Given the description of an element on the screen output the (x, y) to click on. 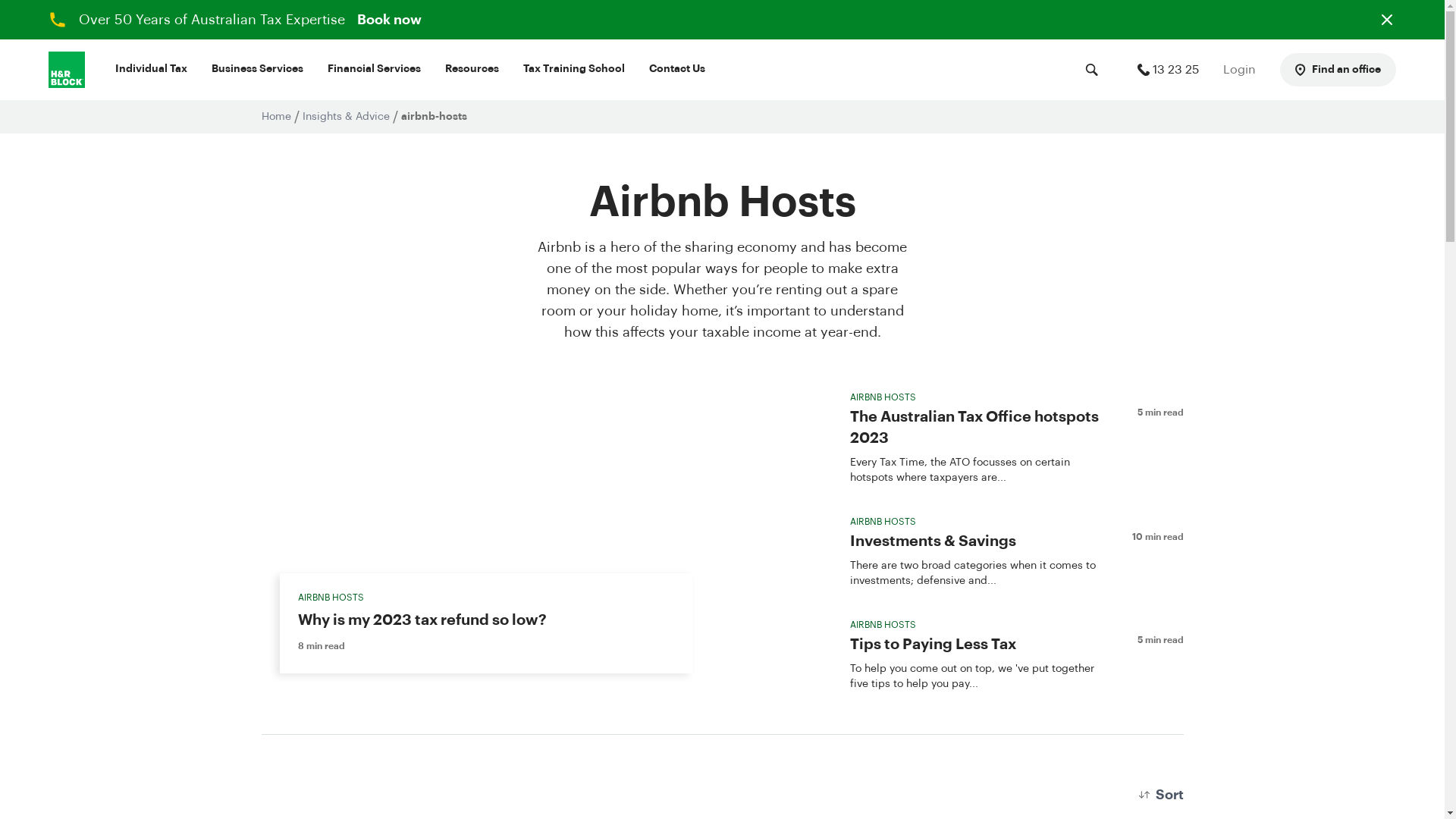
The Australian Tax Office hotspots 2023 Element type: text (980, 427)
AIRBNB HOSTS Element type: text (882, 521)
Financial Services Element type: text (373, 70)
Sort Element type: text (1161, 794)
Book now Element type: text (389, 19)
13 23 25 Element type: text (1167, 69)
Tax Training School Element type: text (573, 70)
Resources Element type: text (471, 70)
Insights & Advice Element type: text (345, 116)
Why is my 2023 tax refund so low? Element type: text (421, 619)
Home Element type: text (275, 116)
AIRBNB HOSTS Element type: text (882, 397)
AIRBNB HOSTS Element type: text (882, 624)
Tips to Paying Less Tax Element type: text (932, 644)
Business Services Element type: text (257, 70)
airbnb-hosts Element type: text (433, 116)
Investments & Savings Element type: text (932, 541)
Individual Tax Element type: text (151, 70)
Contact Us Element type: text (677, 70)
Login Element type: text (1239, 69)
Find an office Element type: text (1338, 69)
AIRBNB HOSTS Element type: text (330, 597)
